Given the description of an element on the screen output the (x, y) to click on. 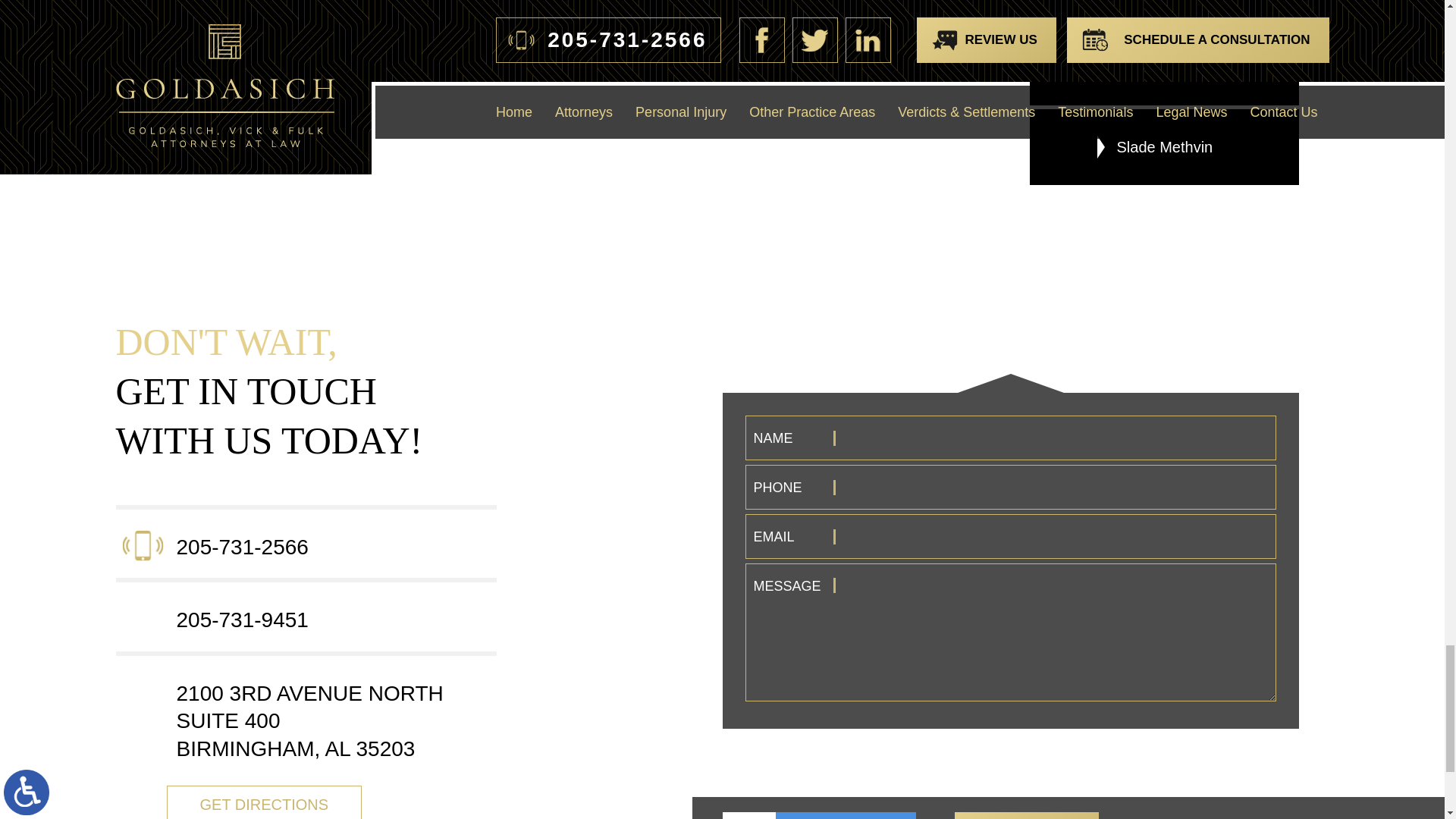
Submit (1027, 815)
